Given the description of an element on the screen output the (x, y) to click on. 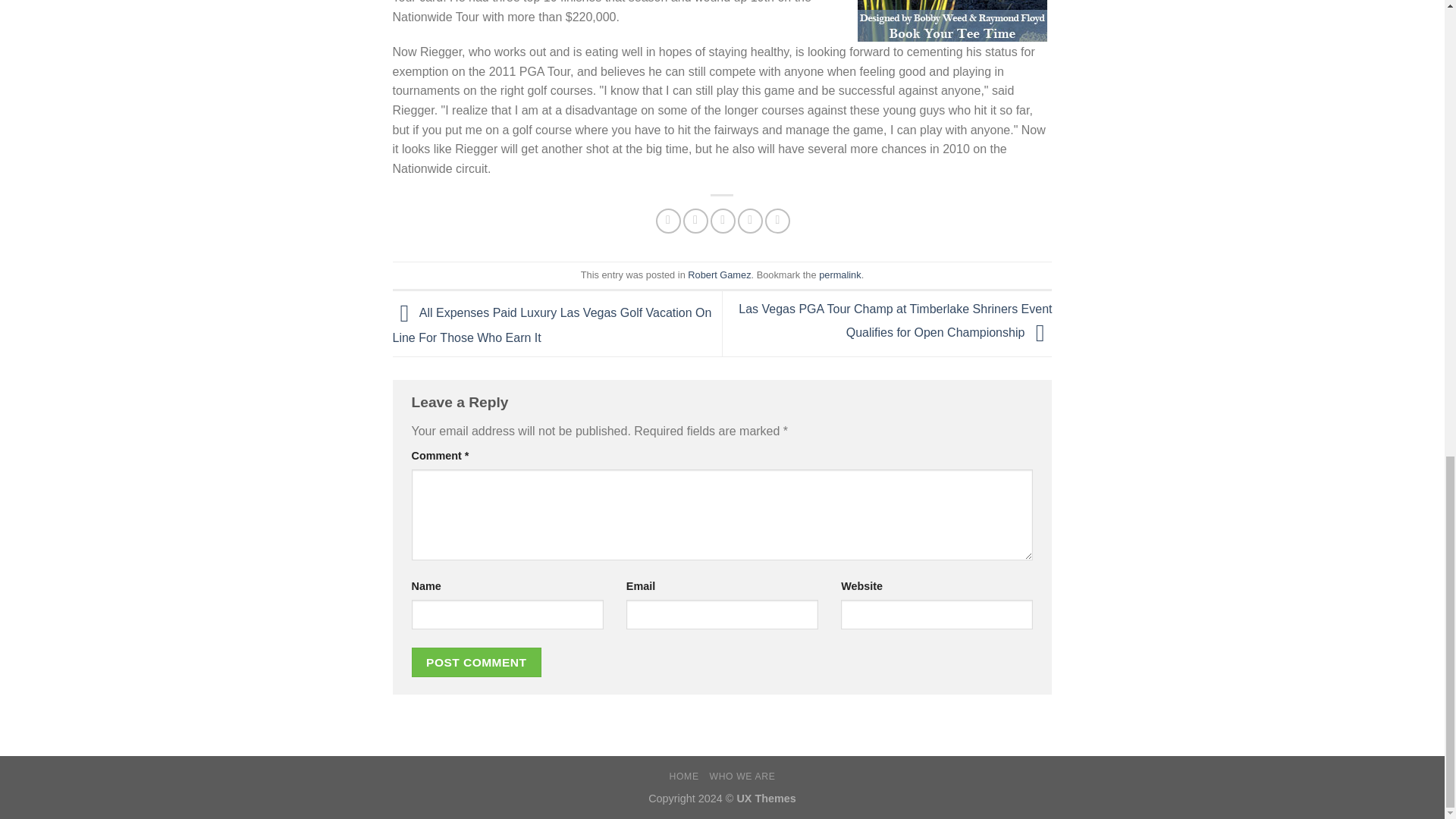
HOME (683, 776)
Post Comment (475, 662)
WHO WE ARE (741, 776)
Post Comment (475, 662)
Click for the official website of TPC Las Vegas (951, 20)
Robert Gamez (719, 274)
permalink (839, 274)
